Given the description of an element on the screen output the (x, y) to click on. 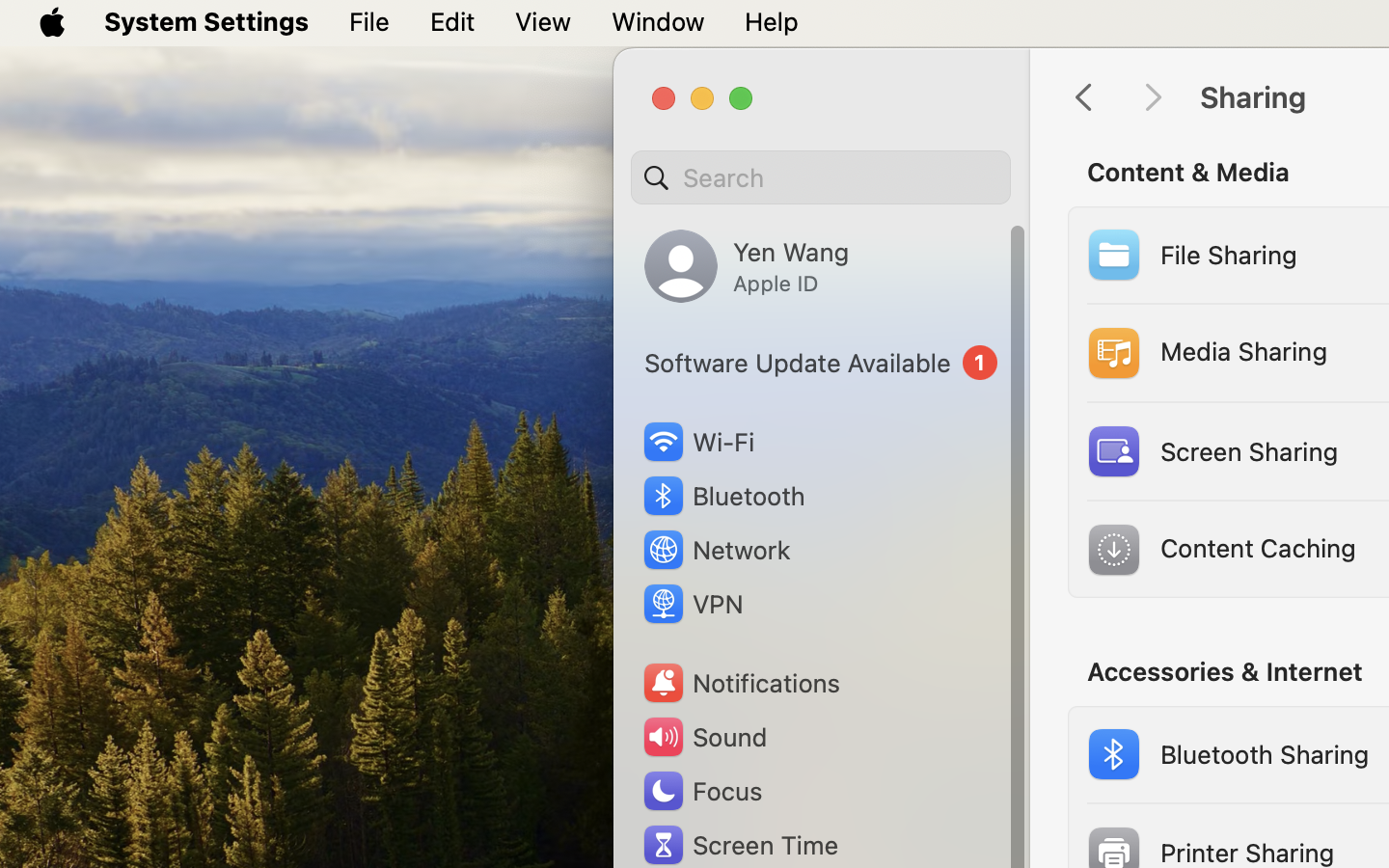
1 Element type: AXStaticText (820, 362)
Bluetooth Element type: AXStaticText (723, 495)
Content Caching Element type: AXStaticText (1219, 549)
Screen Sharing Element type: AXStaticText (1209, 451)
Yen Wang, Apple ID Element type: AXStaticText (746, 265)
